Given the description of an element on the screen output the (x, y) to click on. 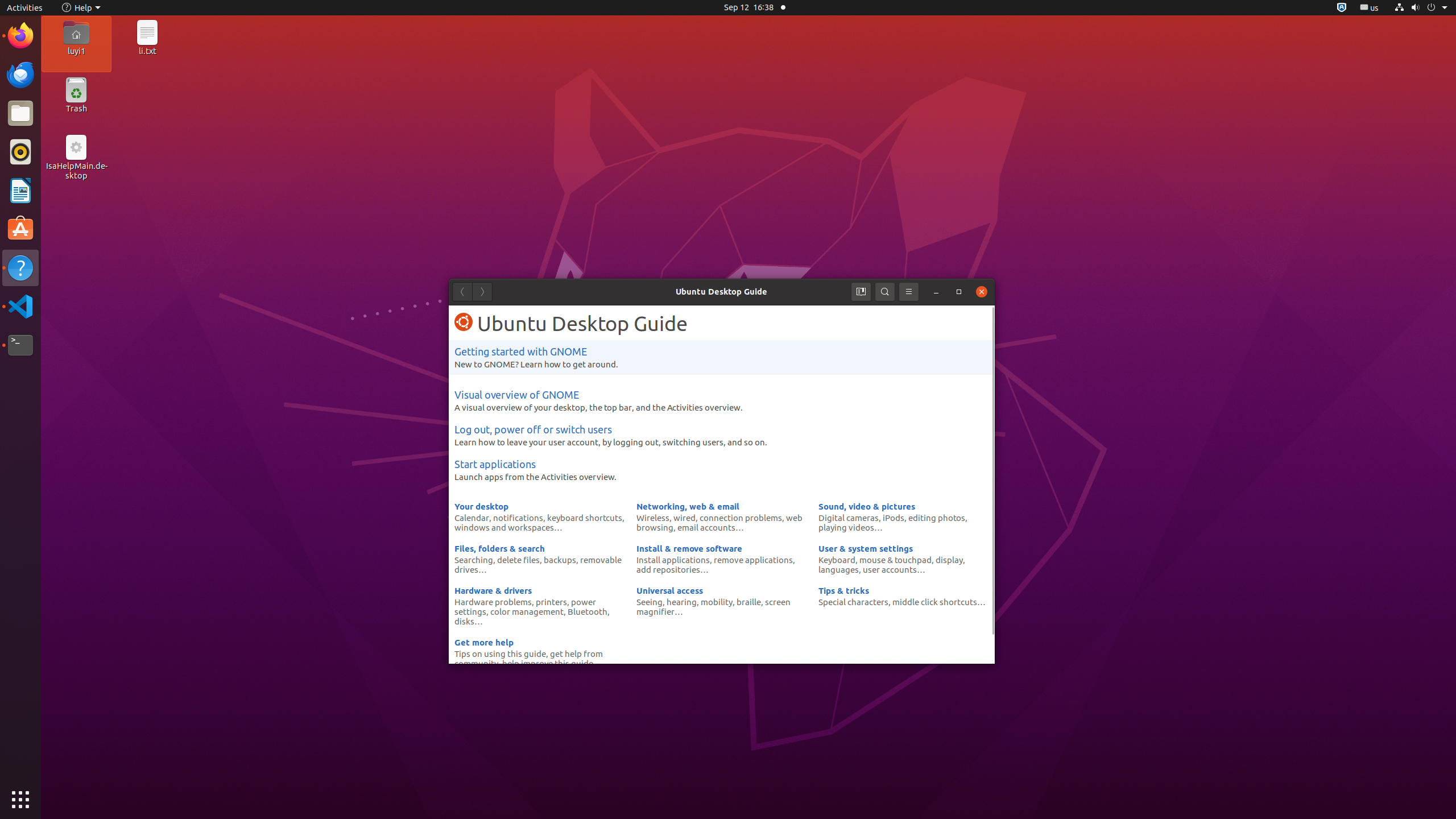
display Element type: link (948, 559)
screen magnifier Element type: link (713, 606)
Activities Element type: label (24, 7)
Maximize Element type: push-button (958, 291)
Hardware & drivers Element type: link (492, 590)
